Given the description of an element on the screen output the (x, y) to click on. 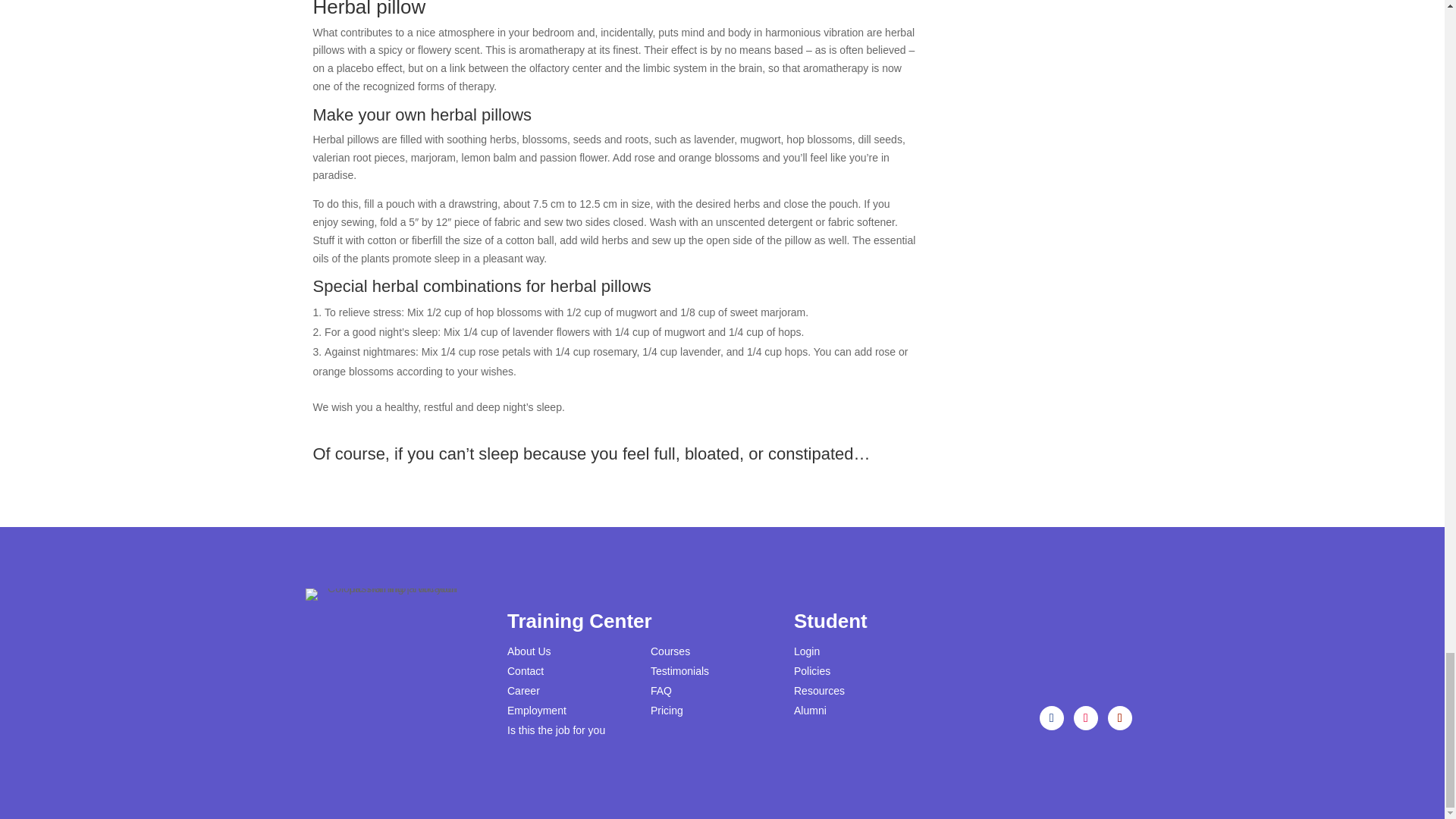
Is this the job for you (555, 729)
CTLogo-white-trans-1500x1500 (381, 594)
Testimonials (679, 671)
About Us (528, 651)
Pricing (666, 710)
Login (806, 651)
Follow on Youtube (1120, 717)
Employment (536, 710)
Follow on Instagram (1085, 717)
Policies (811, 671)
Follow on Facebook (1051, 717)
Resources (818, 690)
Contact (524, 671)
FAQ (660, 690)
Alumni (810, 710)
